Given the description of an element on the screen output the (x, y) to click on. 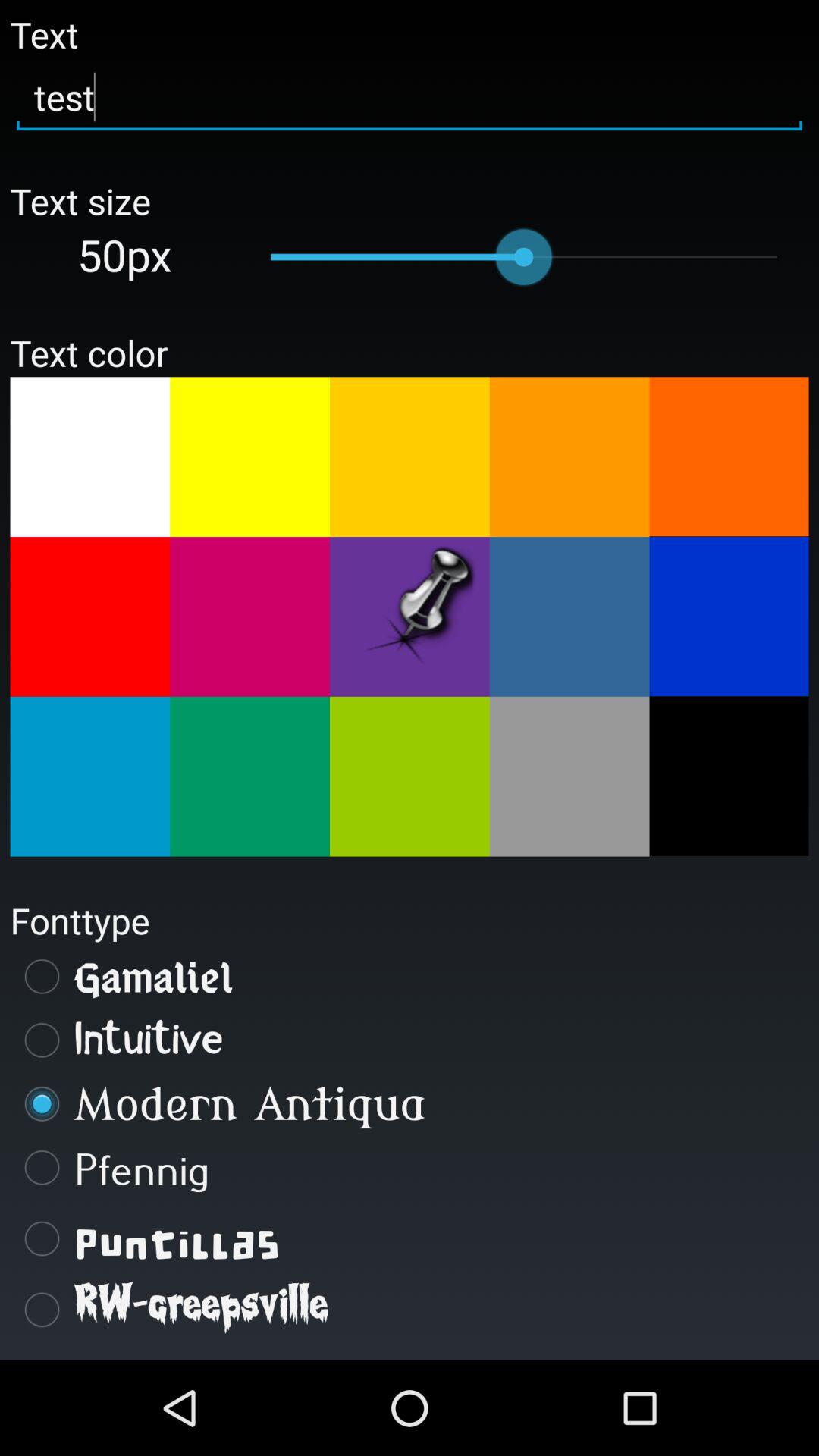
change color to blue (728, 616)
